Given the description of an element on the screen output the (x, y) to click on. 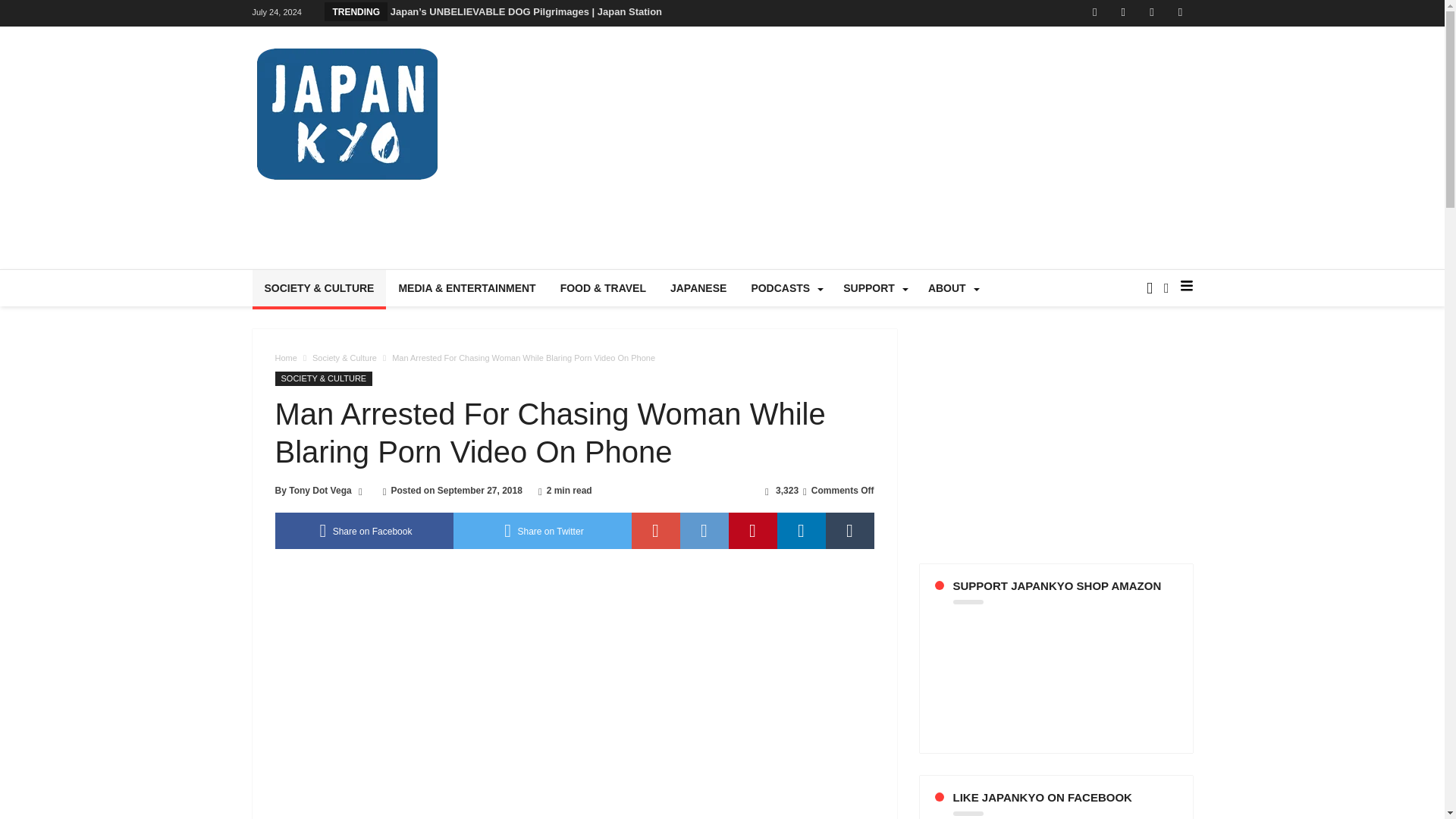
Youtube (1151, 13)
PODCASTS (784, 288)
Facebook (1094, 13)
Twitter (1122, 13)
JAPANESE (698, 288)
Apple (1179, 13)
